Given the description of an element on the screen output the (x, y) to click on. 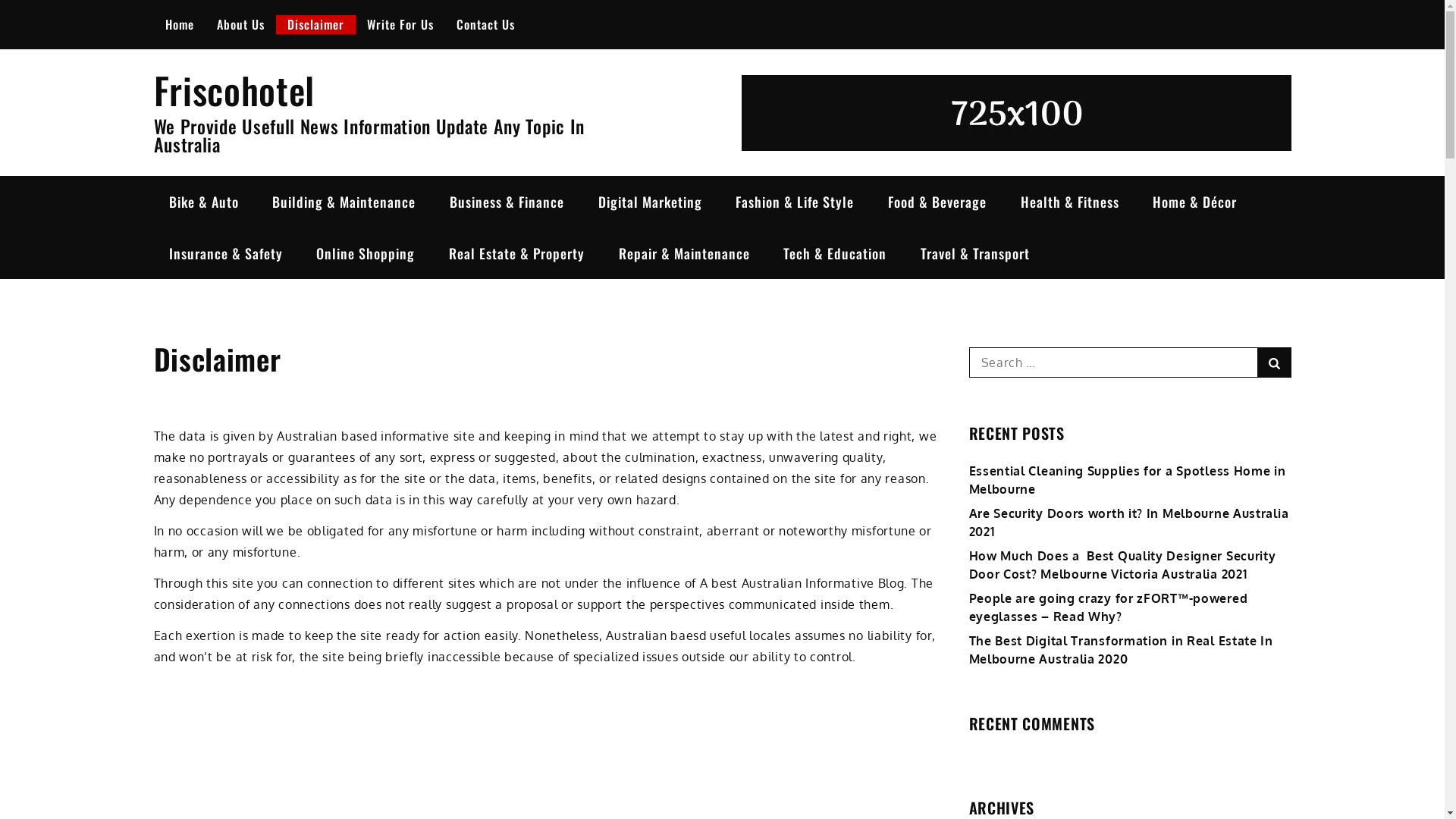
Online Shopping Element type: text (365, 253)
Friscohotel Element type: text (233, 89)
Real Estate & Property Element type: text (516, 253)
Repair & Maintenance Element type: text (684, 253)
Building & Maintenance Element type: text (343, 201)
Bike & Auto Element type: text (203, 201)
Digital Marketing Element type: text (650, 201)
Insurance & Safety Element type: text (225, 253)
Health & Fitness Element type: text (1069, 201)
Disclaimer Element type: text (315, 24)
About Us Element type: text (239, 24)
Contact Us Element type: text (484, 24)
Food & Beverage Element type: text (936, 201)
Home Element type: text (178, 24)
Search Element type: text (1274, 362)
Fashion & Life Style Element type: text (794, 201)
Travel & Transport Element type: text (974, 253)
Skip to content Element type: text (0, 0)
Tech & Education Element type: text (834, 253)
Are Security Doors worth it? In Melbourne Australia 2021 Element type: text (1129, 522)
Write For Us Element type: text (399, 24)
Essential Cleaning Supplies for a Spotless Home in Melbourne Element type: text (1127, 479)
Business & Finance Element type: text (506, 201)
